Given the description of an element on the screen output the (x, y) to click on. 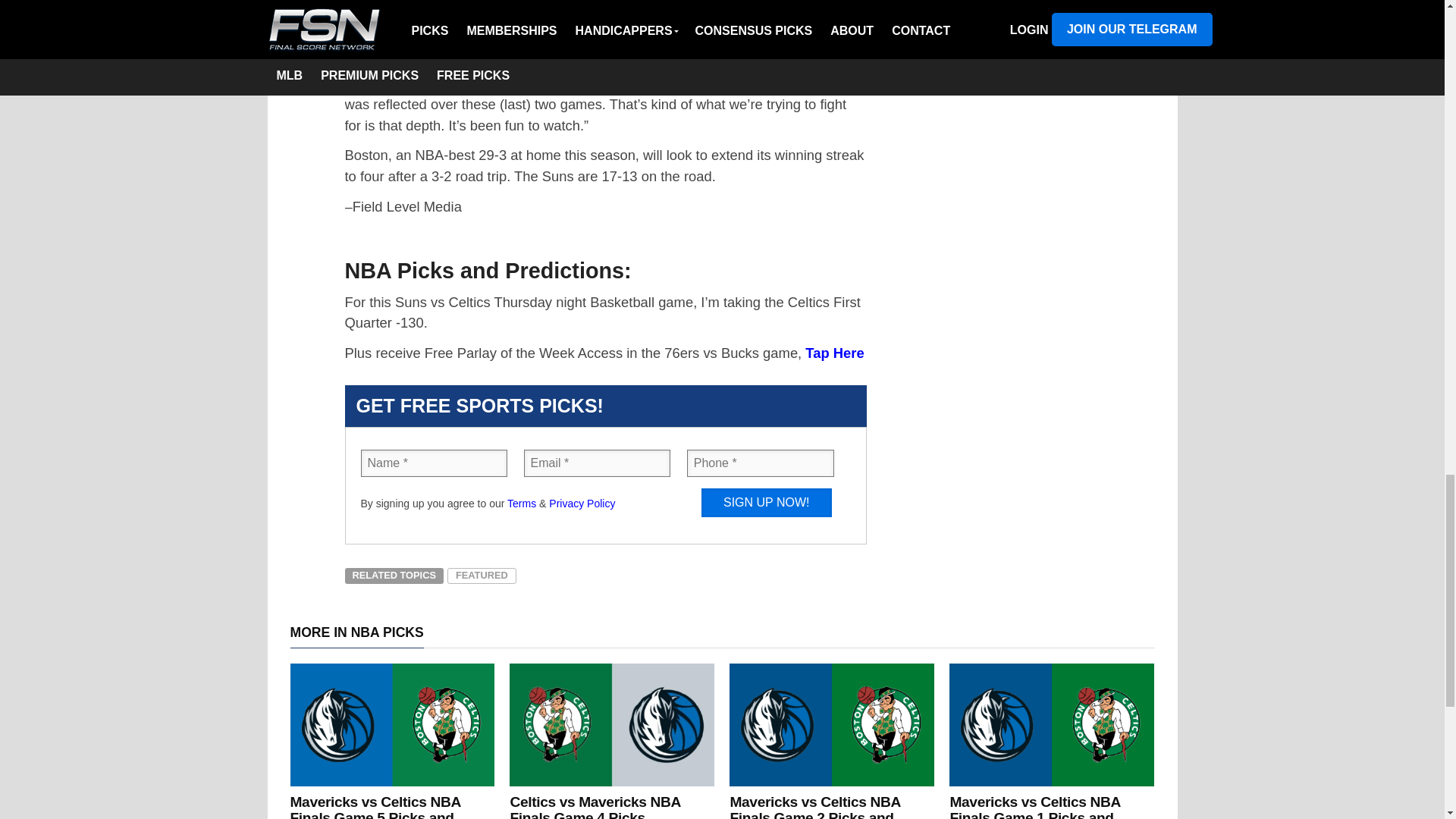
SIGN UP NOW! (766, 502)
